Given the description of an element on the screen output the (x, y) to click on. 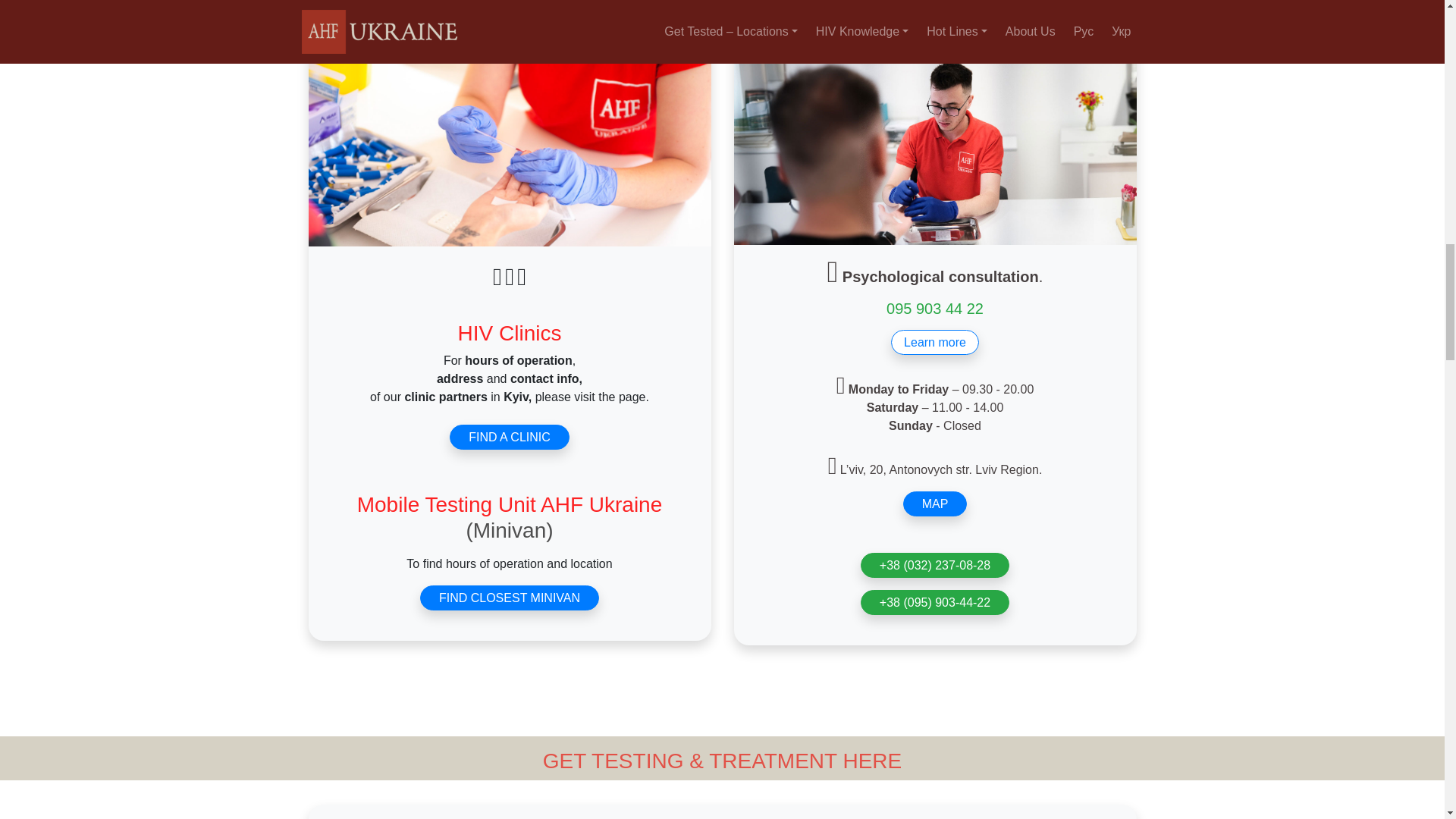
FIND A CLINIC (509, 437)
095 903 44 22 (935, 308)
HIV TESTING - KYIV (508, 23)
AHF CHECKPOINT - LVIV (935, 24)
Learn more (934, 342)
MAP (935, 503)
FIND CLOSEST MINIVAN (509, 597)
